Given the description of an element on the screen output the (x, y) to click on. 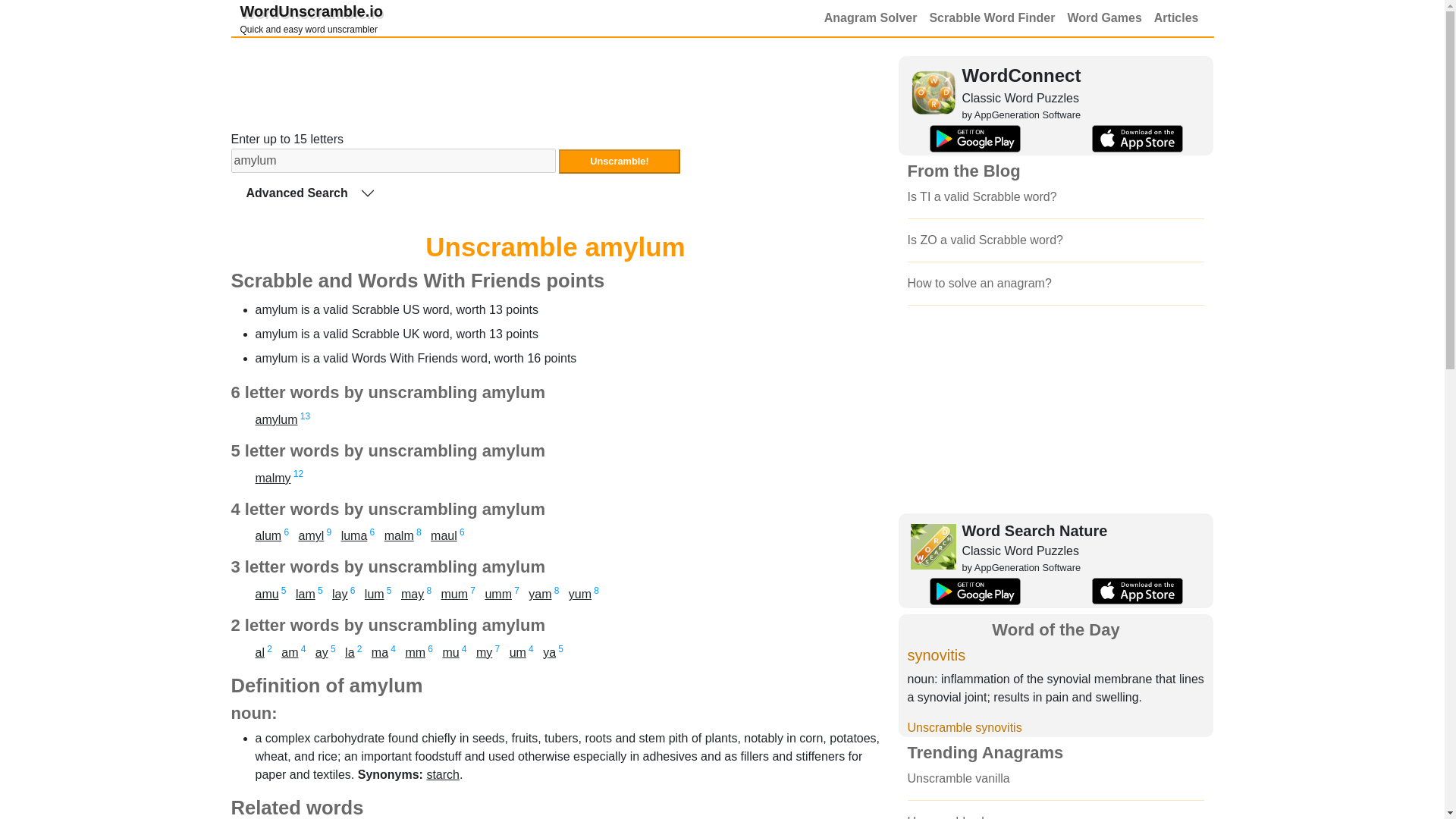
ma (379, 652)
lum (374, 594)
mm (311, 18)
amyl (414, 652)
amylum (311, 535)
malm (392, 160)
amylum (398, 535)
ya (275, 419)
mum (549, 652)
my (454, 594)
3rd party ad content (484, 652)
starch (555, 83)
Unscramble! (443, 774)
maul (619, 161)
